Given the description of an element on the screen output the (x, y) to click on. 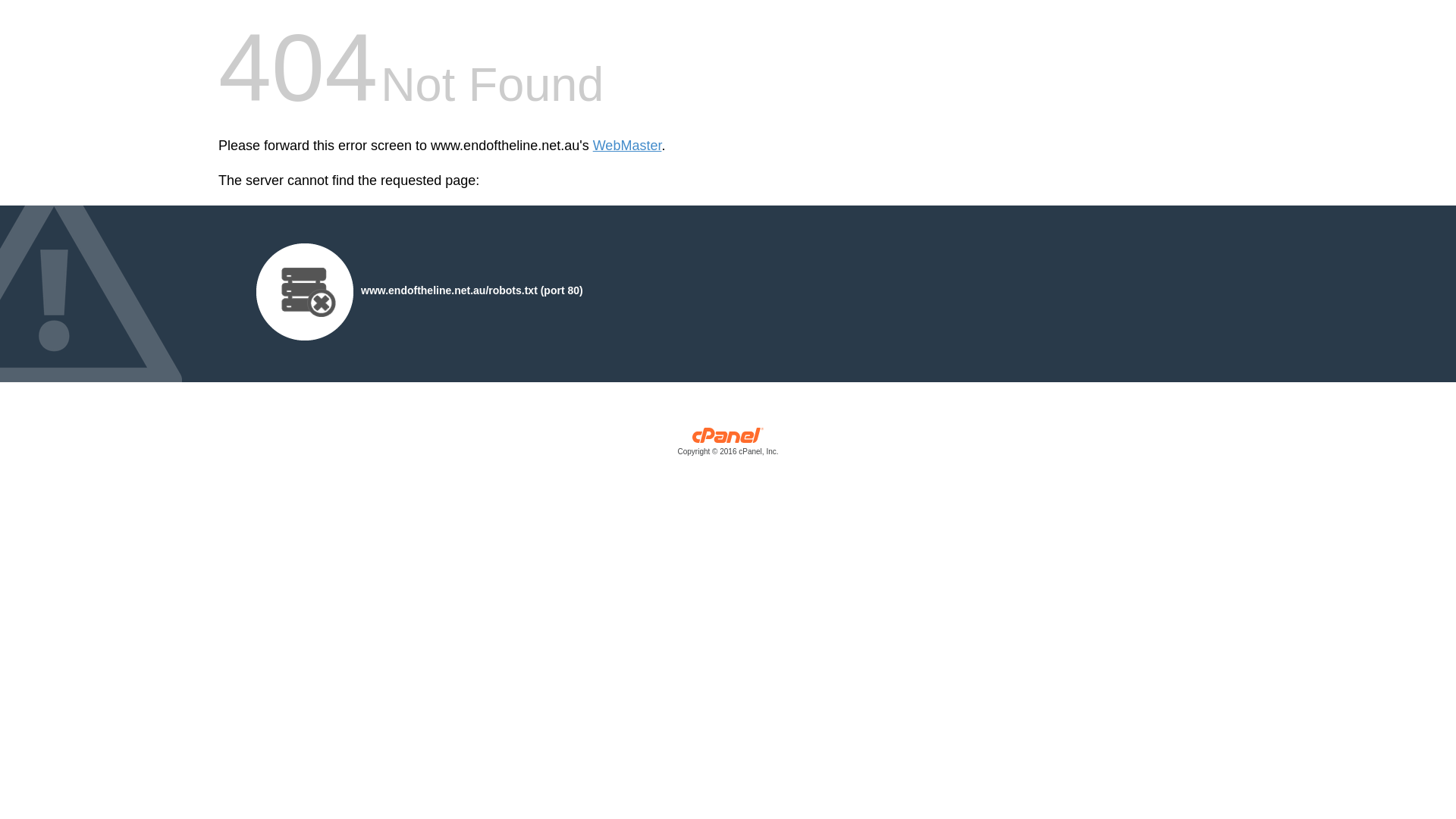
WebMaster Element type: text (627, 145)
